Given the description of an element on the screen output the (x, y) to click on. 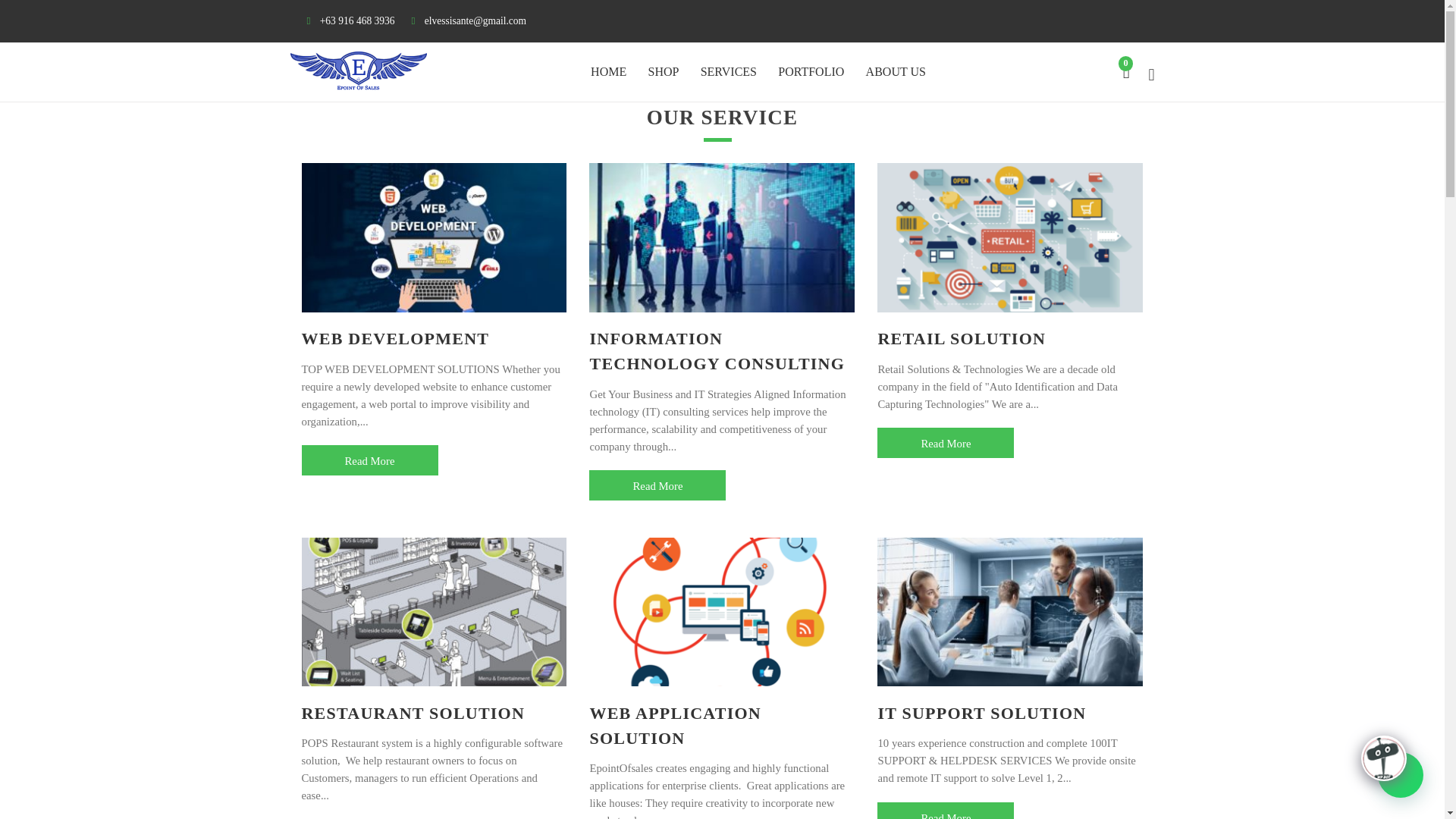
Read More (369, 460)
WEB DEVELOPMENT (395, 338)
IT SUPPORT SOLUTION (981, 712)
Make it Done (357, 71)
RETAIL SOLUTION (961, 338)
INFORMATION TECHNOLOGY CONSULTING (716, 351)
Retail Solution (945, 442)
Information Technology Consulting (657, 485)
Web Development (369, 460)
PORTFOLIO (810, 72)
SERVICES (727, 72)
RESTAURANT SOLUTION (413, 712)
Read More (945, 442)
HOME (608, 72)
Read More (945, 810)
